Given the description of an element on the screen output the (x, y) to click on. 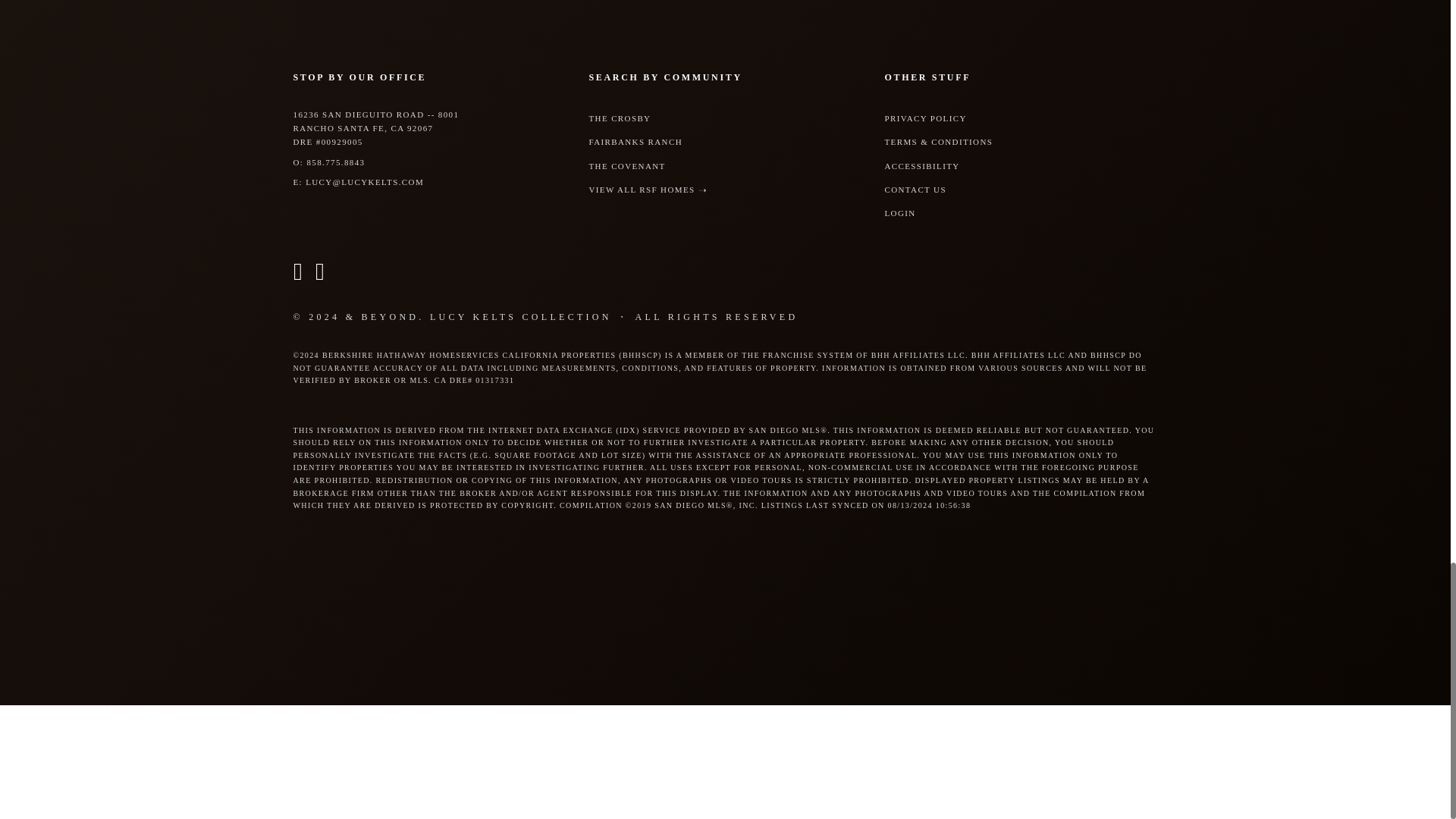
PRIVACY POLICY (924, 117)
DMCA.com Protection Program (113, 760)
THE COVENANT (626, 165)
858.775.8843 (335, 162)
FAIRBANKS RANCH (635, 141)
THE CROSBY (619, 117)
